Given the description of an element on the screen output the (x, y) to click on. 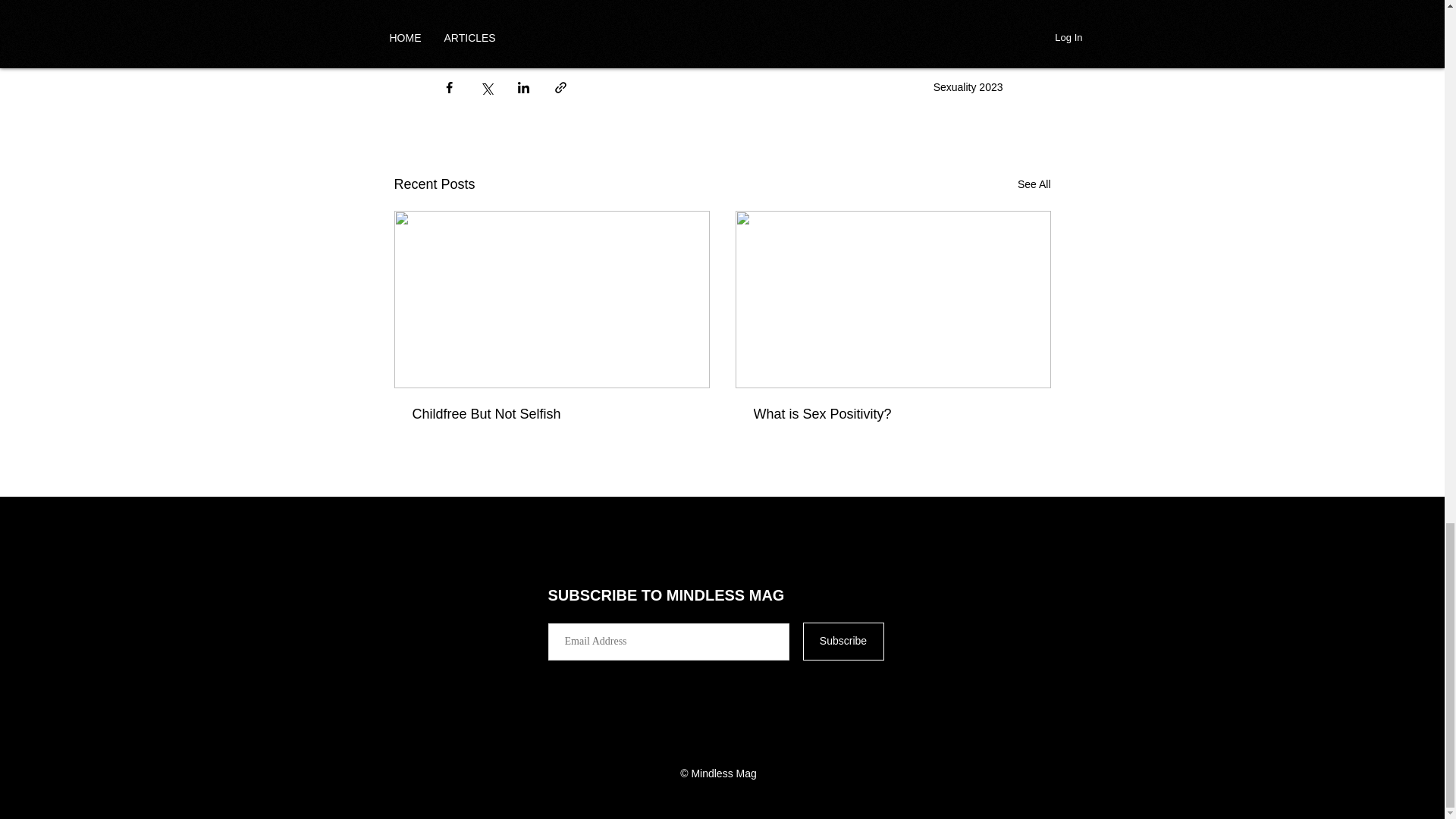
Mental awareness (862, 29)
Childfree But Not Selfish (551, 414)
Sexuality 2023 (968, 87)
anxiety (624, 29)
What is Sex Positivity? (893, 414)
happiness (691, 29)
See All (1034, 184)
mental health (482, 29)
sexuality (561, 29)
depression (767, 29)
